Given the description of an element on the screen output the (x, y) to click on. 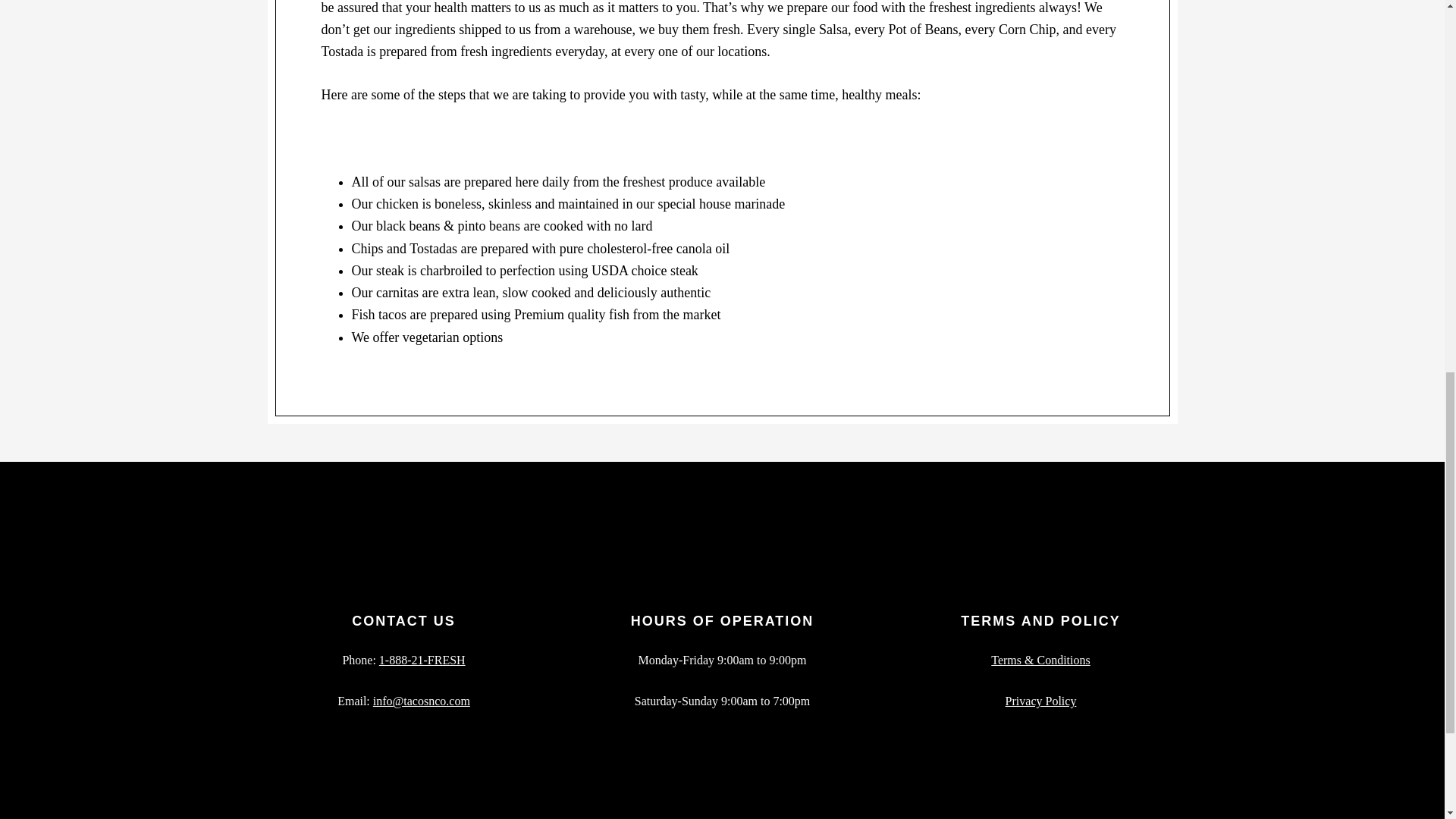
1-888-21-FRESH (421, 659)
TWITTER (557, 818)
Privacy Policy (1041, 700)
